Given the description of an element on the screen output the (x, y) to click on. 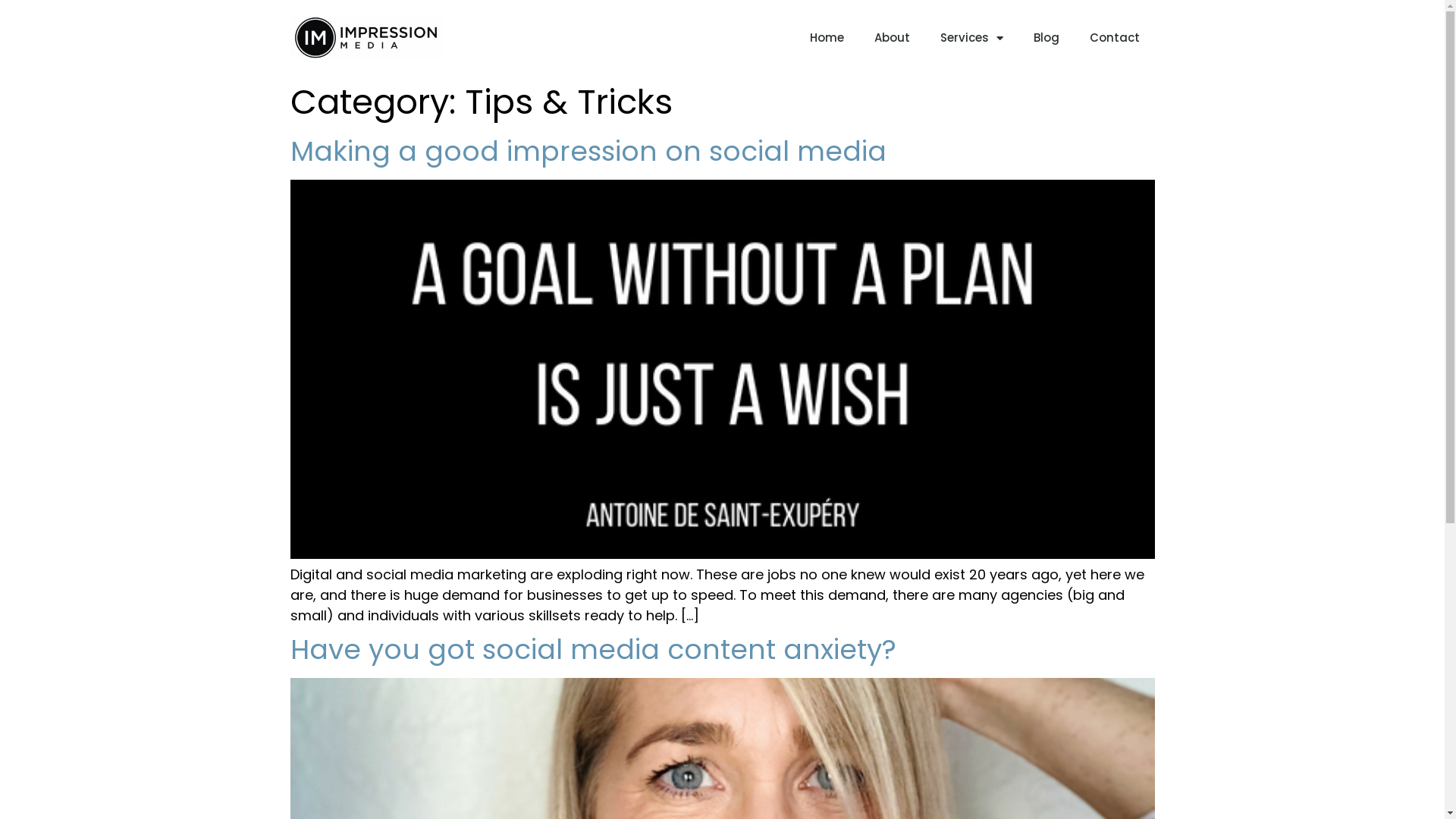
Home Element type: text (826, 37)
Contact Element type: text (1113, 37)
Making a good impression on social media Element type: text (587, 150)
Services Element type: text (971, 37)
Have you got social media content anxiety? Element type: text (592, 649)
Blog Element type: text (1045, 37)
About Element type: text (891, 37)
